Given the description of an element on the screen output the (x, y) to click on. 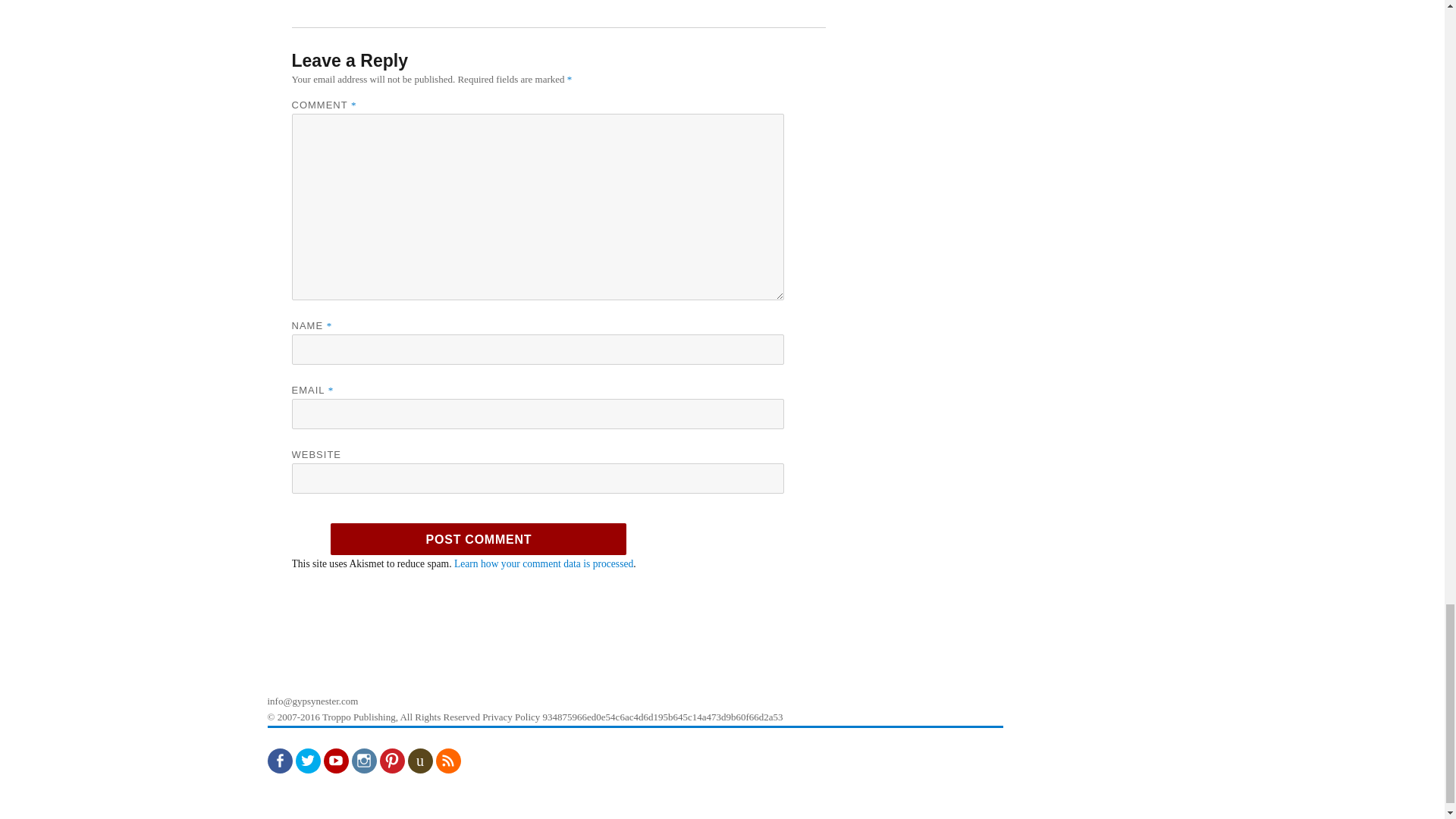
Post Comment (478, 539)
